Given the description of an element on the screen output the (x, y) to click on. 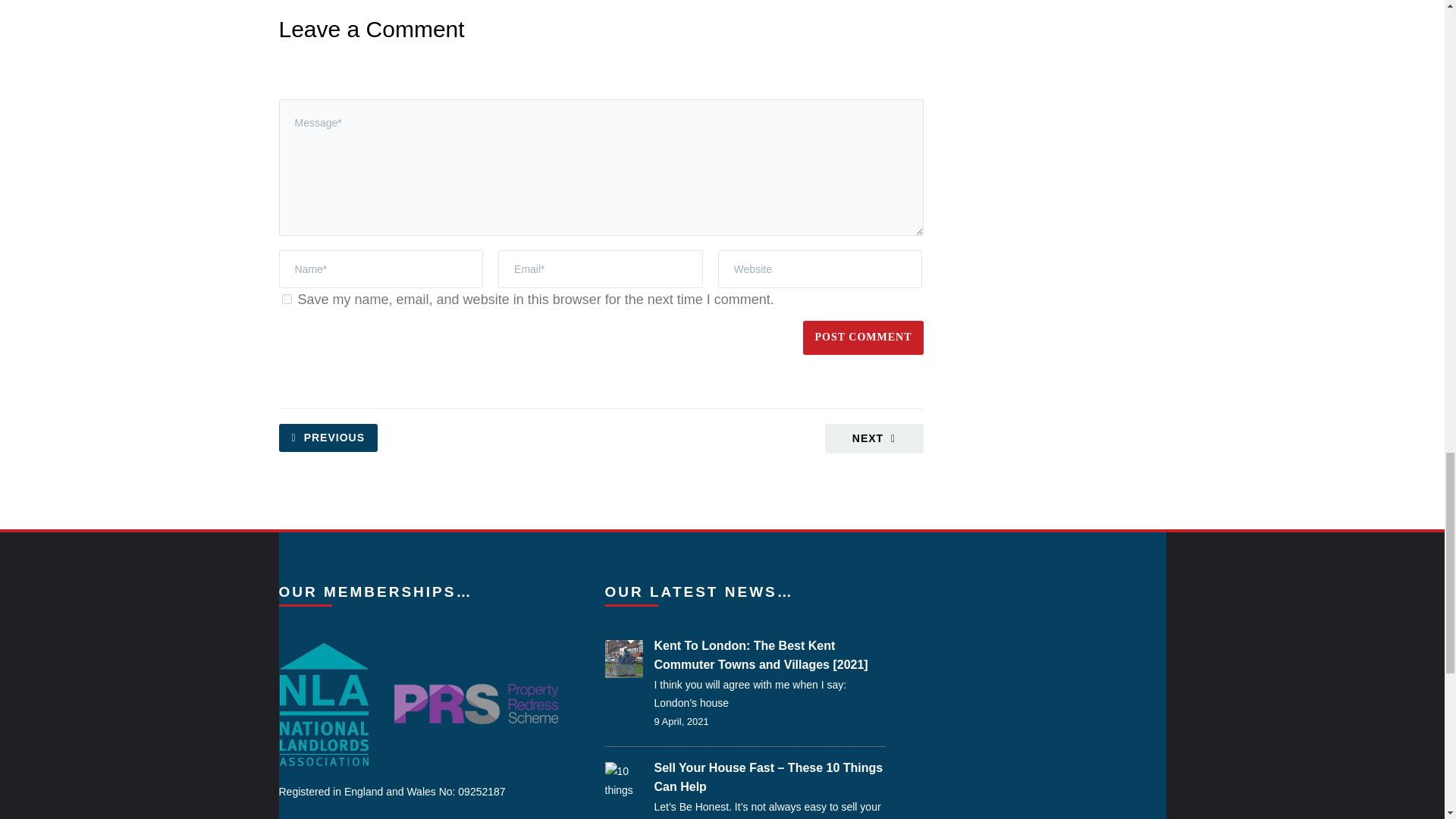
NEXT (874, 438)
yes (287, 298)
Post Comment (863, 337)
Post Comment (863, 337)
PREVIOUS (328, 438)
